Given the description of an element on the screen output the (x, y) to click on. 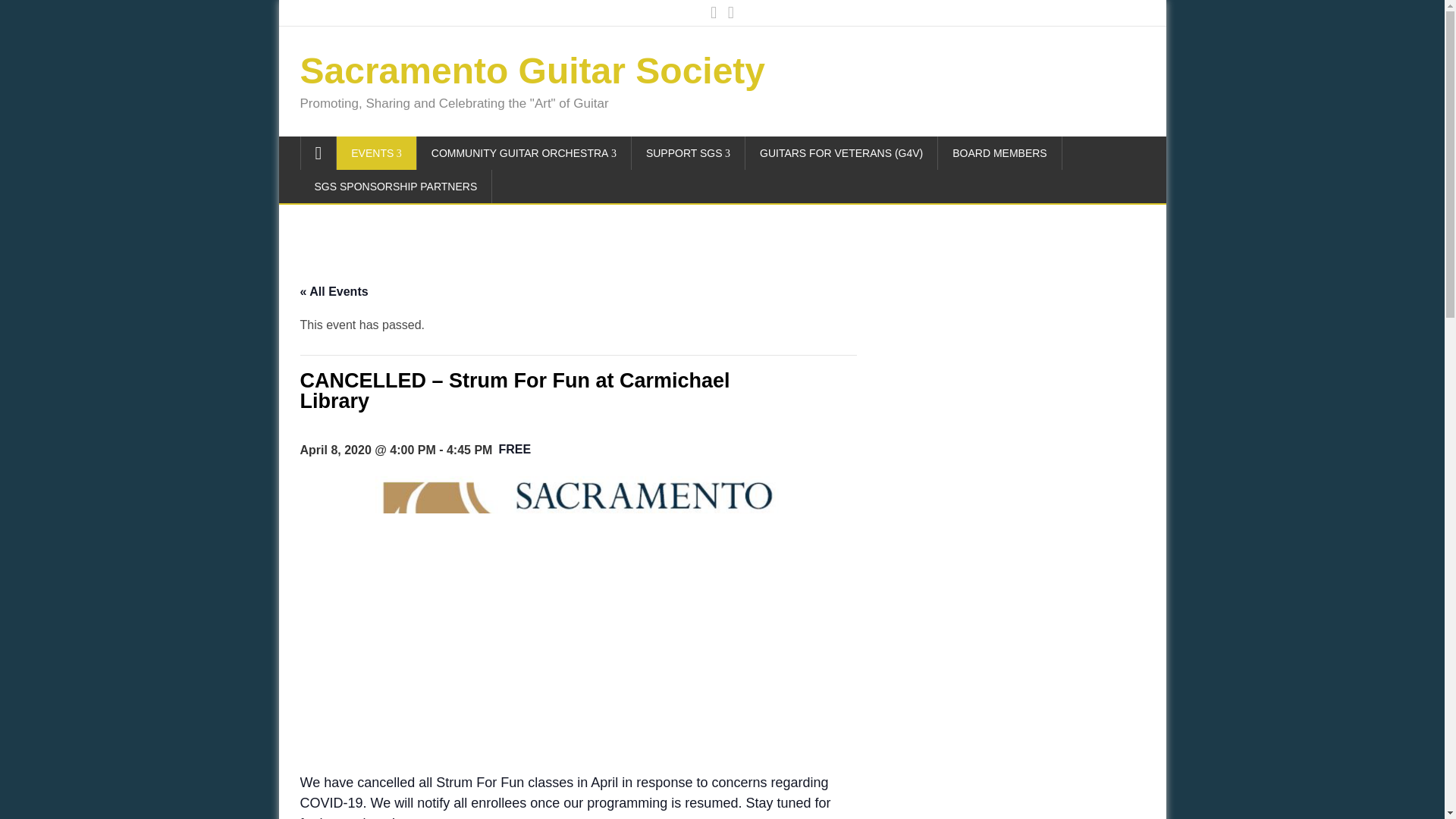
BOARD MEMBERS (999, 152)
COMMUNITY GUITAR ORCHESTRA (523, 152)
EVENTS (376, 152)
SUPPORT SGS (688, 152)
Sacramento Guitar Society (532, 70)
SGS SPONSORSHIP PARTNERS (396, 186)
